Given the description of an element on the screen output the (x, y) to click on. 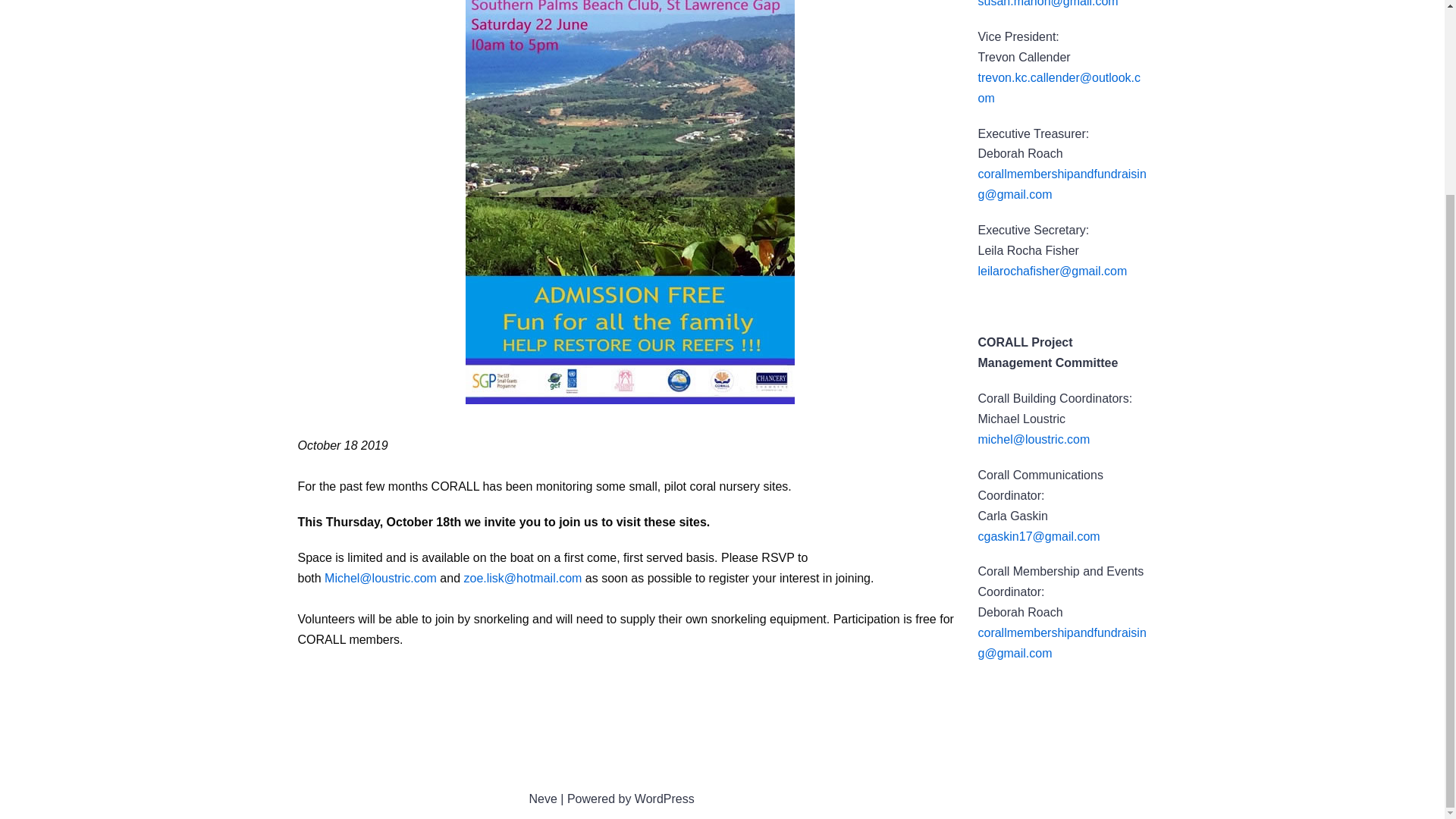
Neve (543, 798)
WordPress (664, 798)
